Given the description of an element on the screen output the (x, y) to click on. 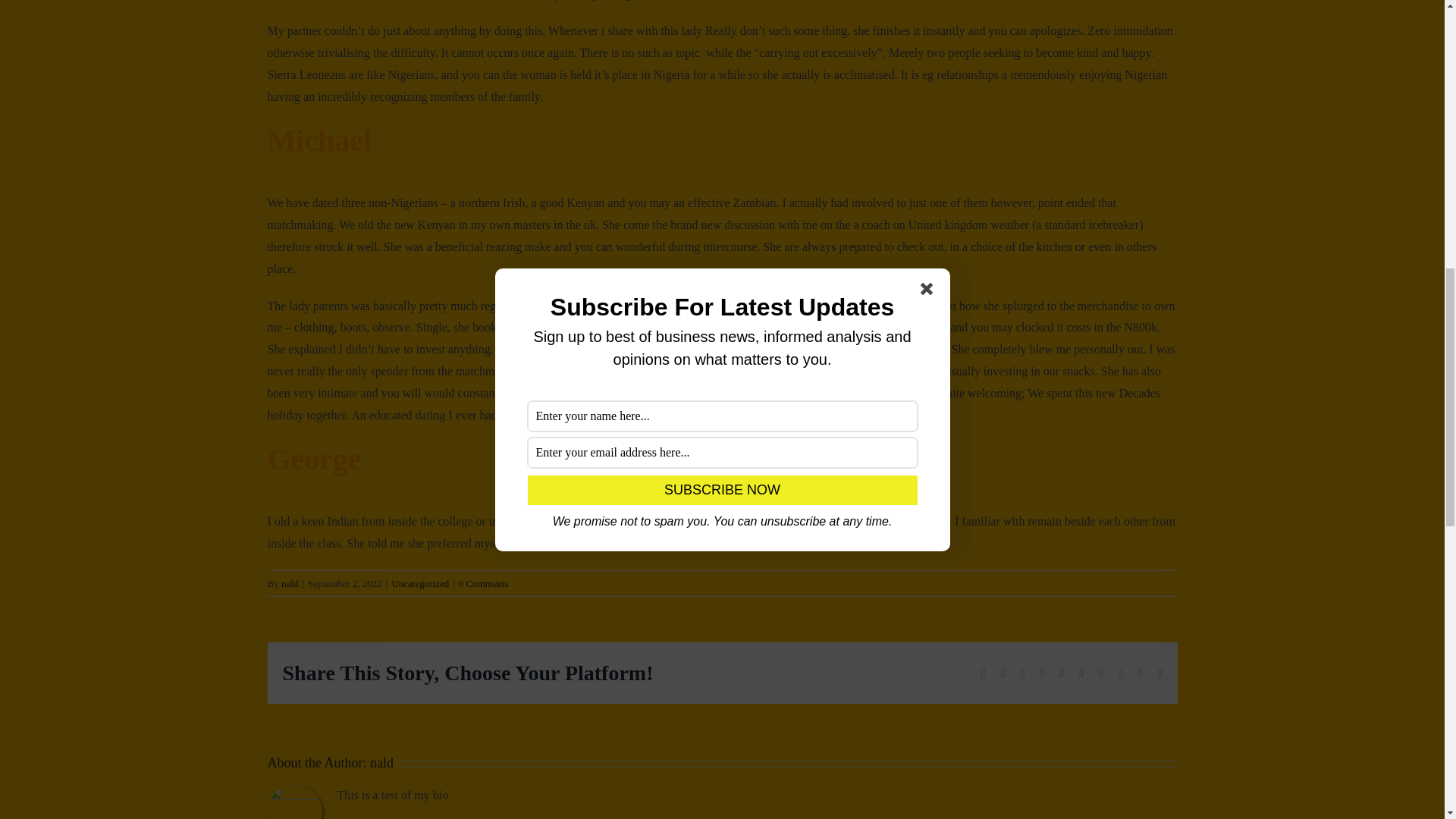
Vk (1120, 673)
Facebook (983, 673)
Reddit (1022, 673)
Twitter (1003, 673)
Email (1159, 673)
0 Comments (483, 583)
Posts by nald (289, 583)
WhatsApp (1061, 673)
Tumblr (1080, 673)
nald (289, 583)
Pinterest (1101, 673)
Uncategorized (419, 583)
LinkedIn (1043, 673)
Posts by nald (381, 762)
Xing (1140, 673)
